Given the description of an element on the screen output the (x, y) to click on. 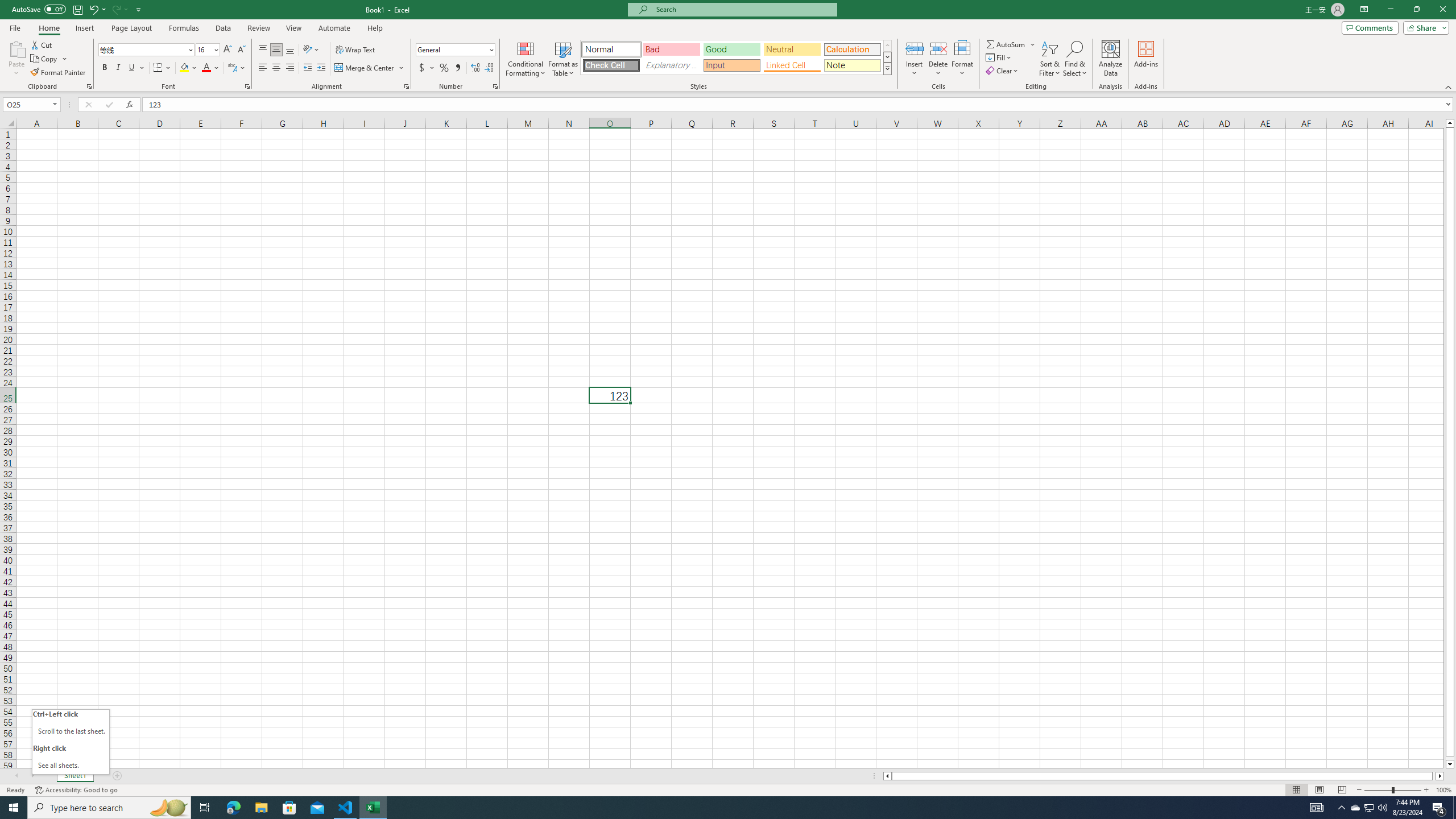
Orientation (311, 49)
Format as Table (563, 58)
Cell Styles (887, 68)
Decrease Font Size (240, 49)
Increase Decimal (474, 67)
Decrease Decimal (489, 67)
Sum (1006, 44)
Delete (938, 58)
Copy (45, 58)
Number Format (451, 49)
Bad (671, 49)
